Given the description of an element on the screen output the (x, y) to click on. 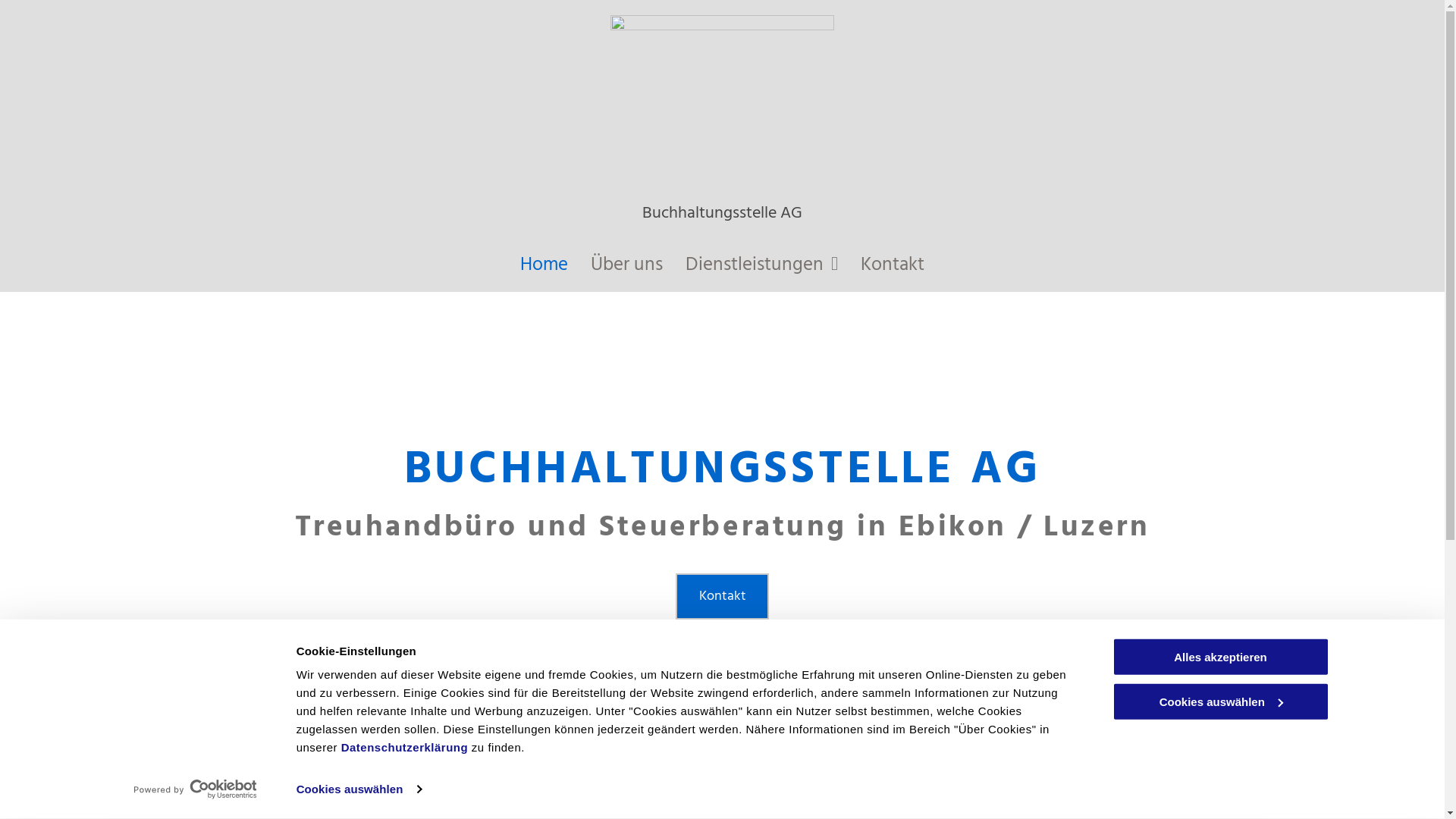
Buchhaltungsstelle AG Element type: text (722, 213)
Home Element type: text (543, 265)
Kontakt Element type: text (721, 596)
Kontakt Element type: text (892, 265)
Dienstleistungen Element type: text (761, 265)
Alles akzeptieren Element type: text (1219, 656)
